Given the description of an element on the screen output the (x, y) to click on. 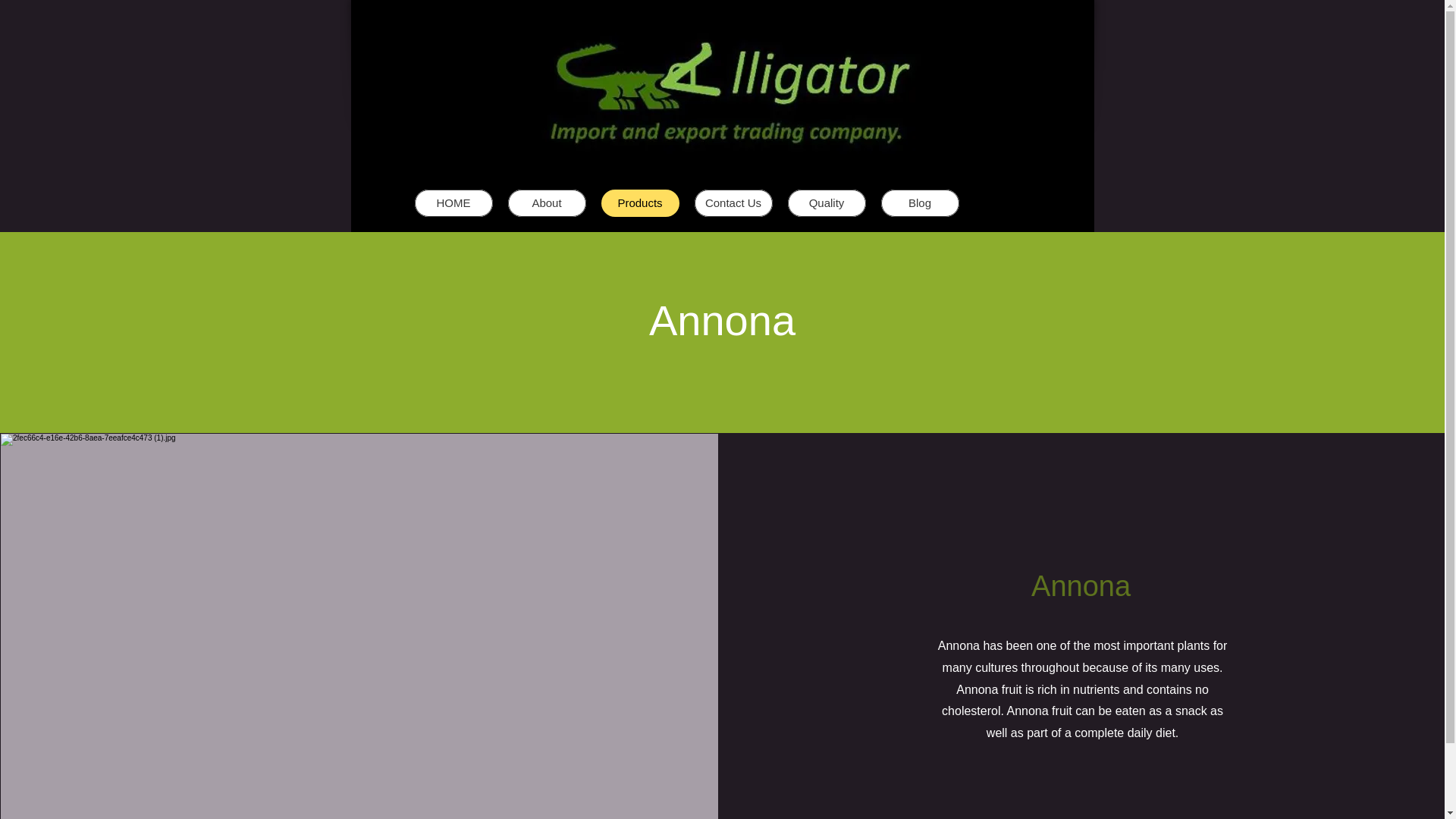
Blog (919, 203)
Products (638, 203)
About (547, 203)
Quality (825, 203)
HOME (452, 203)
Contact Us (733, 203)
